Given the description of an element on the screen output the (x, y) to click on. 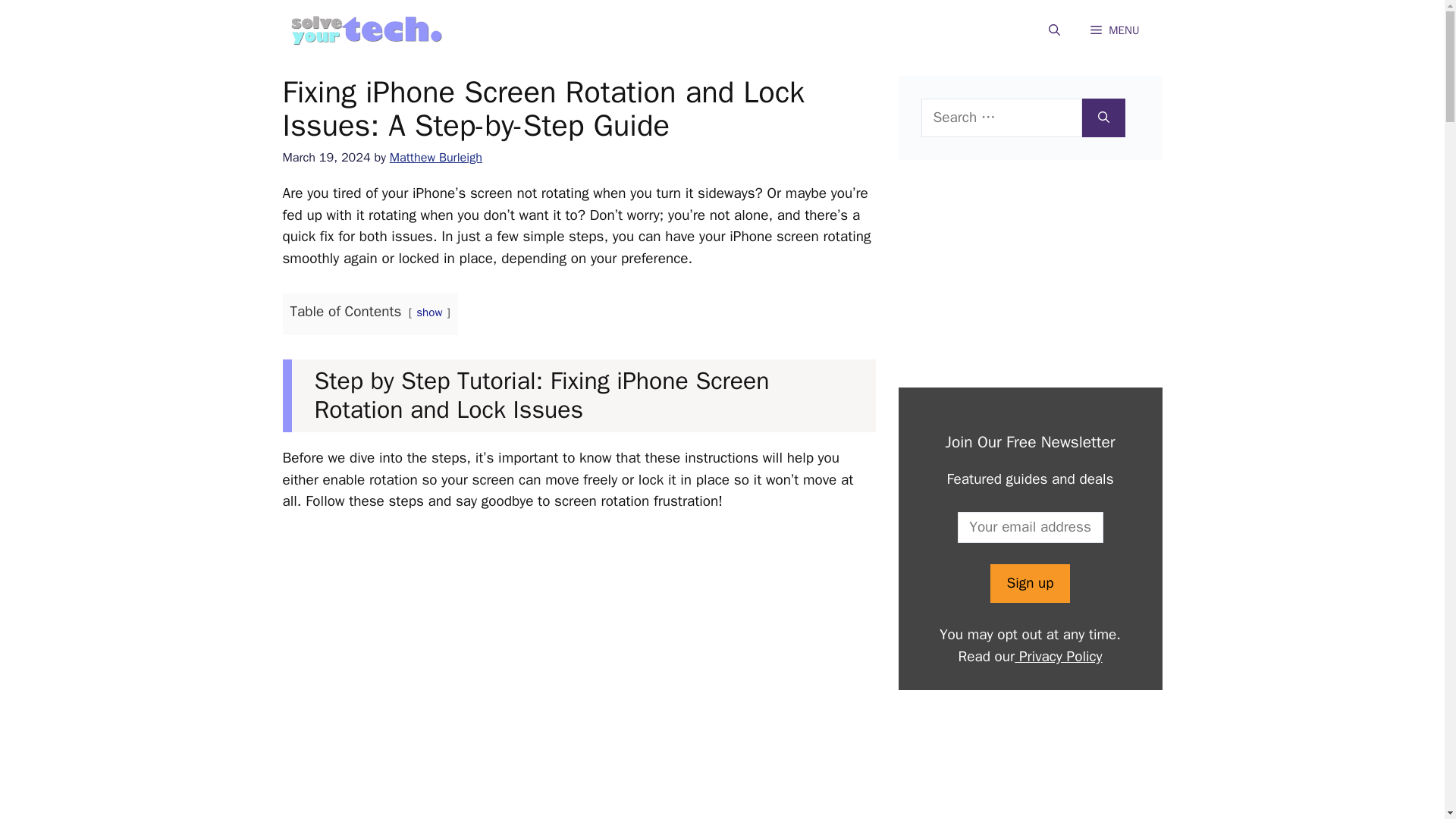
Matthew Burleigh (435, 157)
Sign up (1029, 583)
MENU (1114, 30)
show (429, 312)
